Given the description of an element on the screen output the (x, y) to click on. 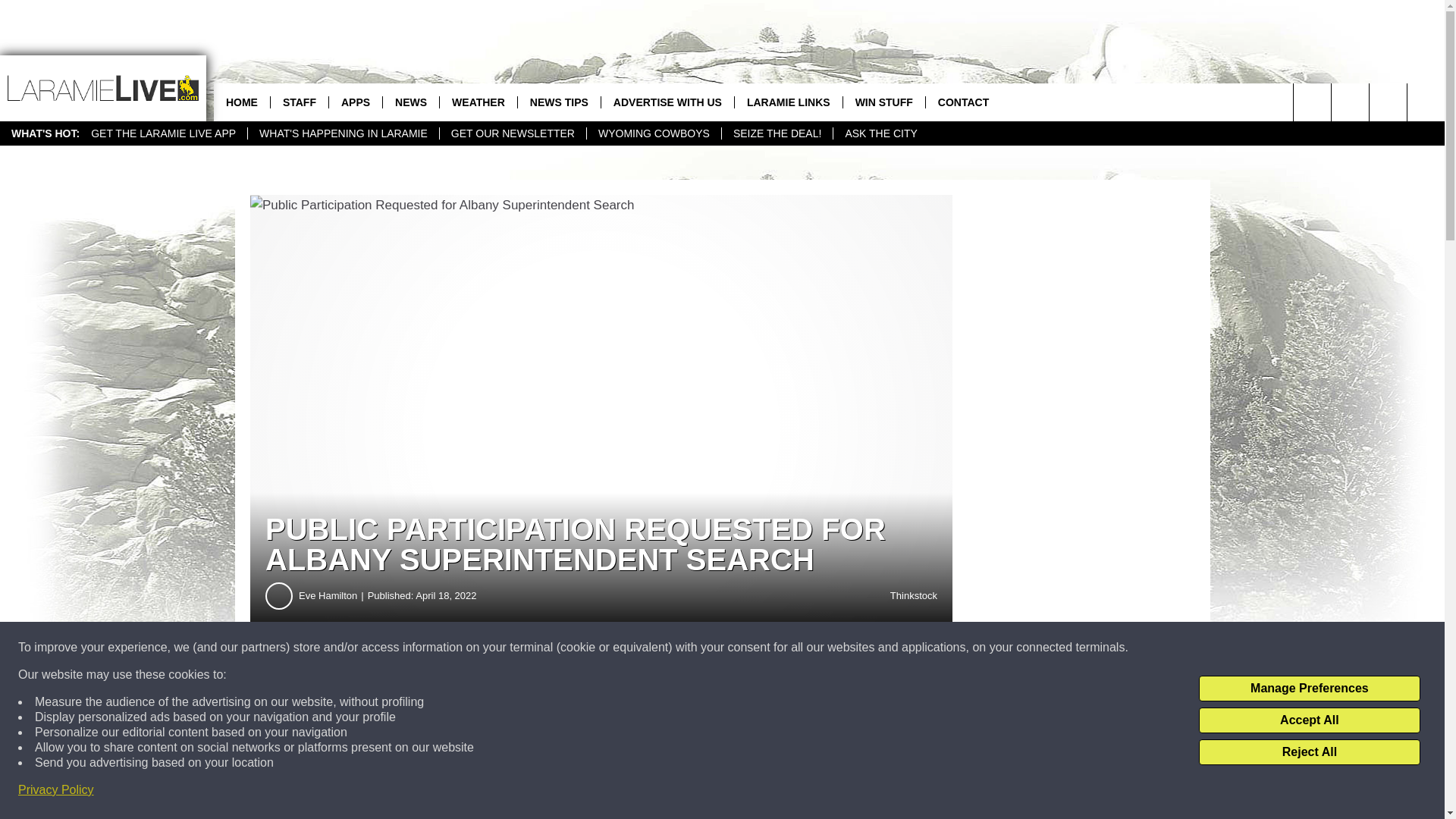
GET THE LARAMIE LIVE APP (163, 133)
NEWS (410, 102)
Accept All (1309, 720)
ASK THE CITY (880, 133)
Share on Twitter (741, 681)
STAFF (299, 102)
Privacy Policy (55, 789)
Reject All (1309, 751)
Manage Preferences (1309, 688)
LARAMIE LINKS (788, 102)
WEATHER (477, 102)
SEIZE THE DEAL! (776, 133)
WYOMING COWBOYS (653, 133)
HOME (241, 102)
GET OUR NEWSLETTER (512, 133)
